Given the description of an element on the screen output the (x, y) to click on. 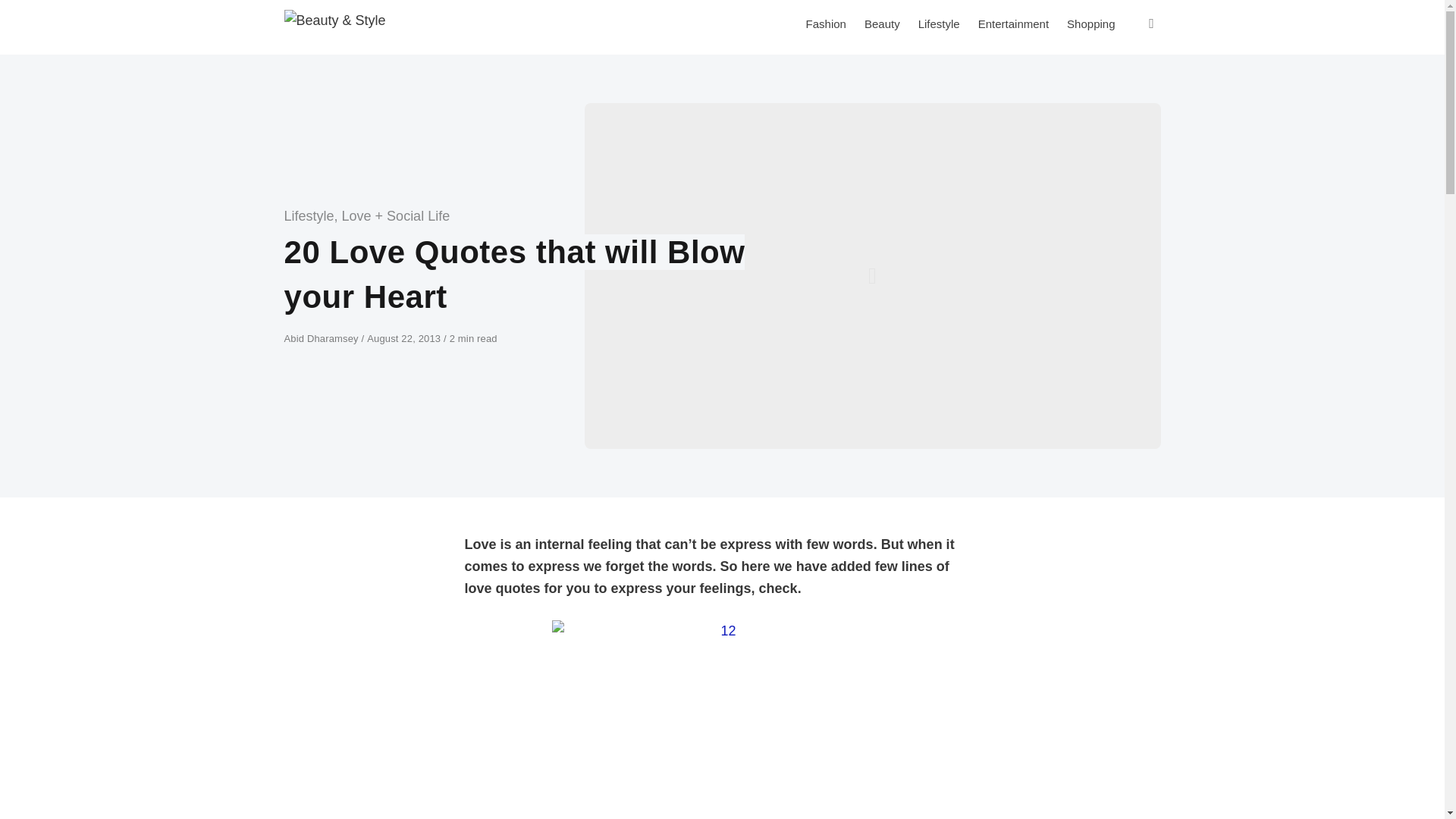
August 22, 2013 (405, 337)
Shopping (1091, 24)
Abid Dharamsey (322, 337)
Entertainment (1013, 24)
Beauty (882, 24)
Lifestyle (308, 215)
Fashion (826, 24)
Lifestyle (938, 24)
